Given the description of an element on the screen output the (x, y) to click on. 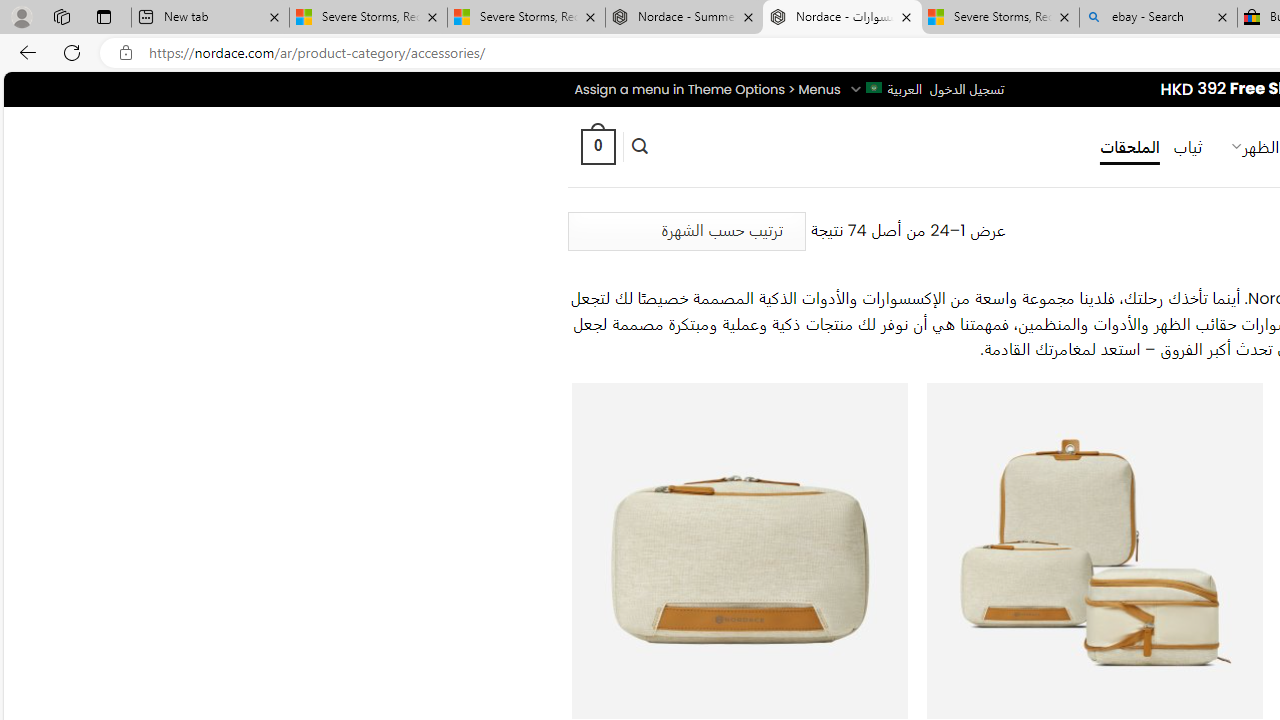
 0  (597, 146)
  0   (597, 146)
